Given the description of an element on the screen output the (x, y) to click on. 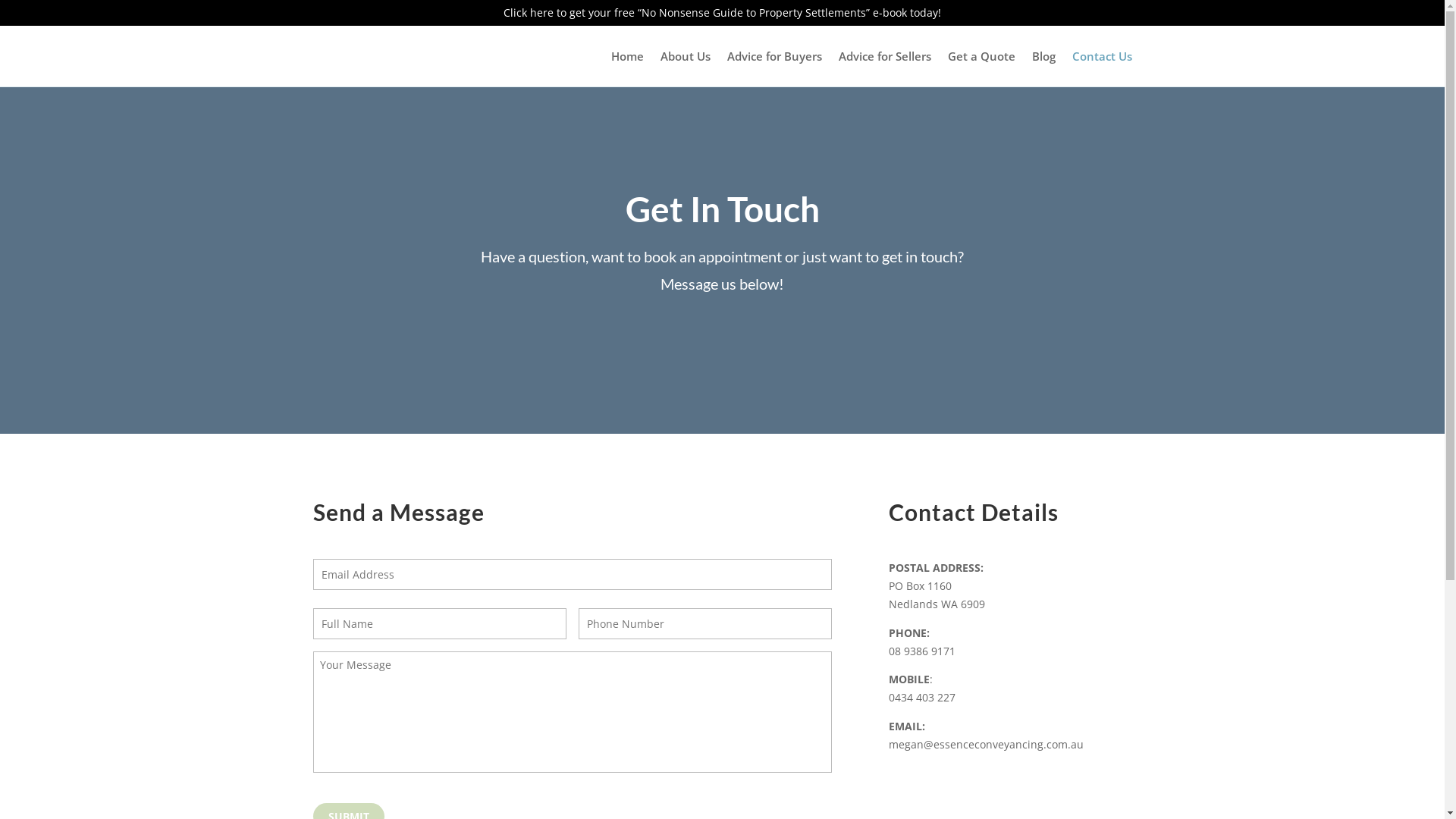
Blog Element type: text (1042, 58)
Advice for Buyers Element type: text (773, 58)
Advice for Sellers Element type: text (884, 58)
Get a Quote Element type: text (981, 58)
Contact Us Element type: text (1102, 58)
About Us Element type: text (684, 58)
Home Element type: text (627, 58)
